Given the description of an element on the screen output the (x, y) to click on. 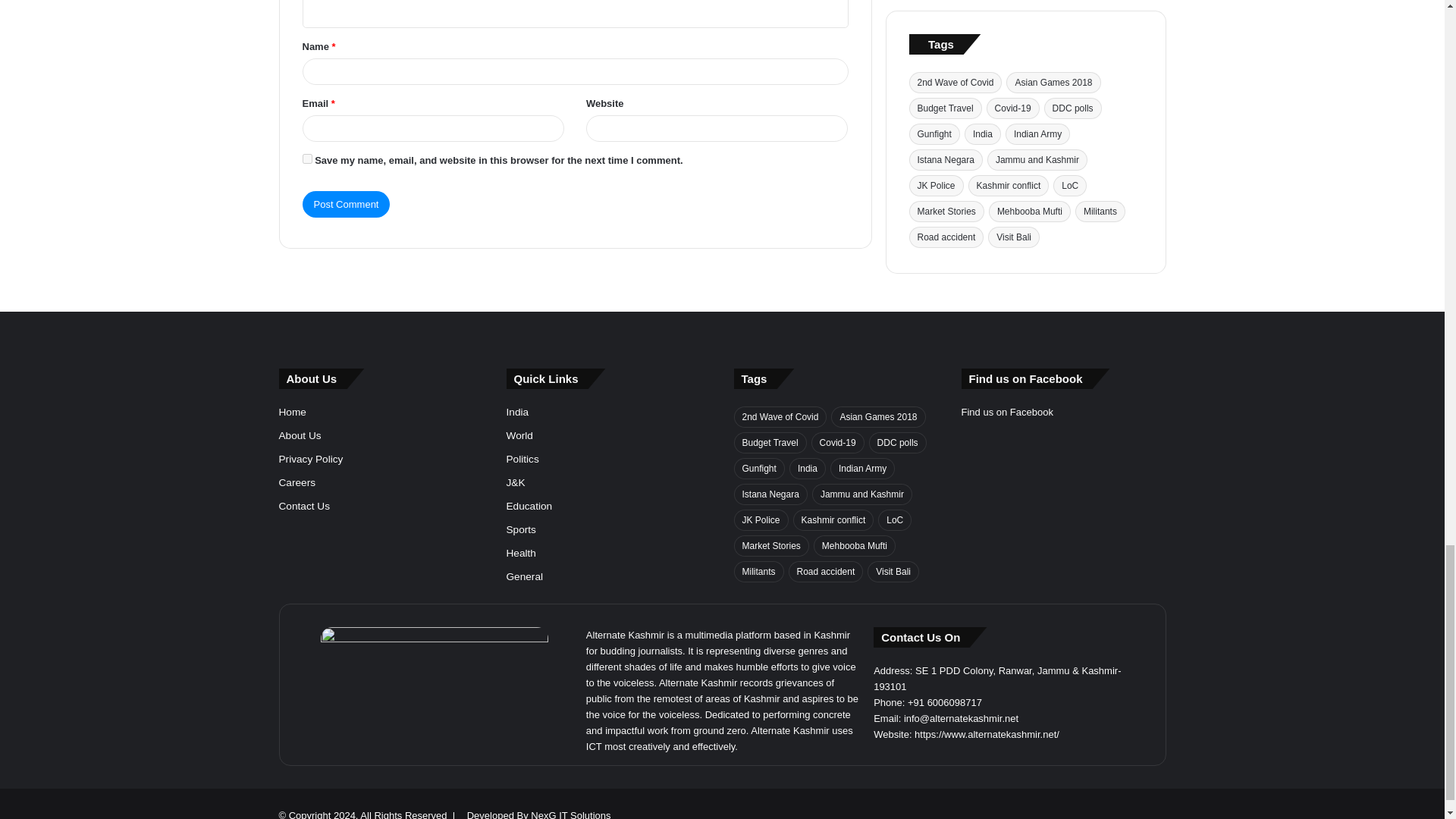
yes (306, 184)
Post Comment (345, 229)
